Given the description of an element on the screen output the (x, y) to click on. 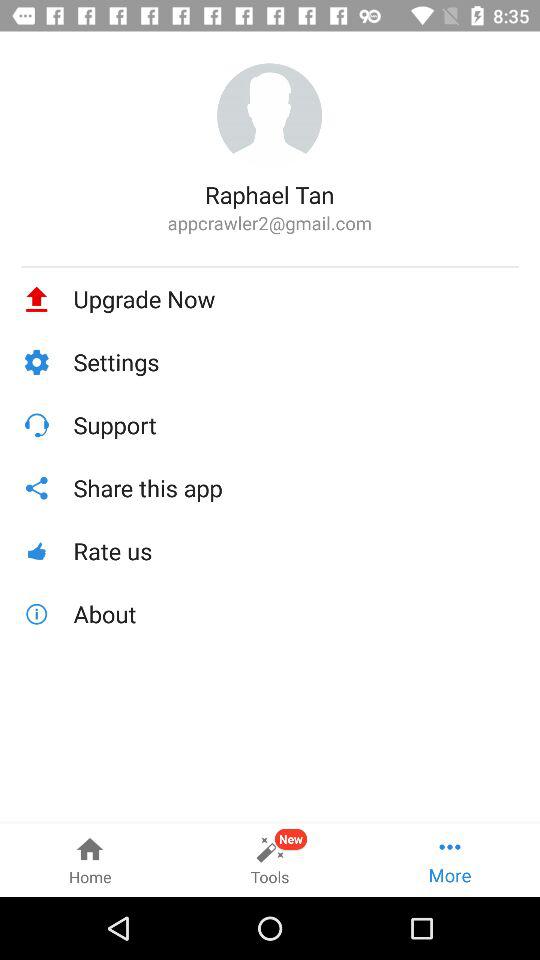
click item below the appcrawler2@gmail.com icon (270, 266)
